Given the description of an element on the screen output the (x, y) to click on. 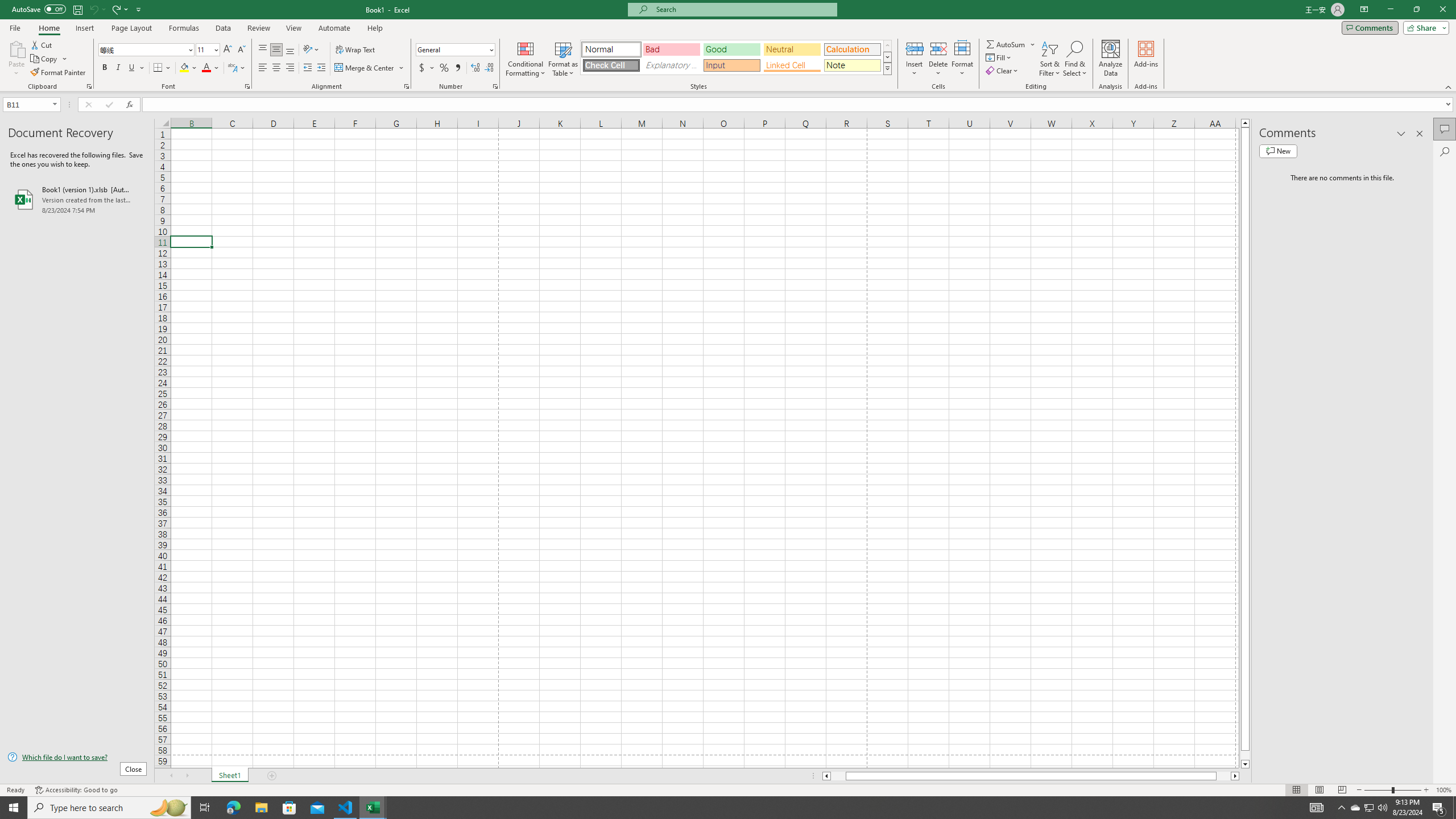
Align Right (290, 67)
Class: MsoCommandBar (728, 45)
Check Cell (611, 65)
Fill Color RGB(255, 255, 0) (183, 67)
Format Painter (58, 72)
Sum (1006, 44)
Font Size (204, 49)
